Given the description of an element on the screen output the (x, y) to click on. 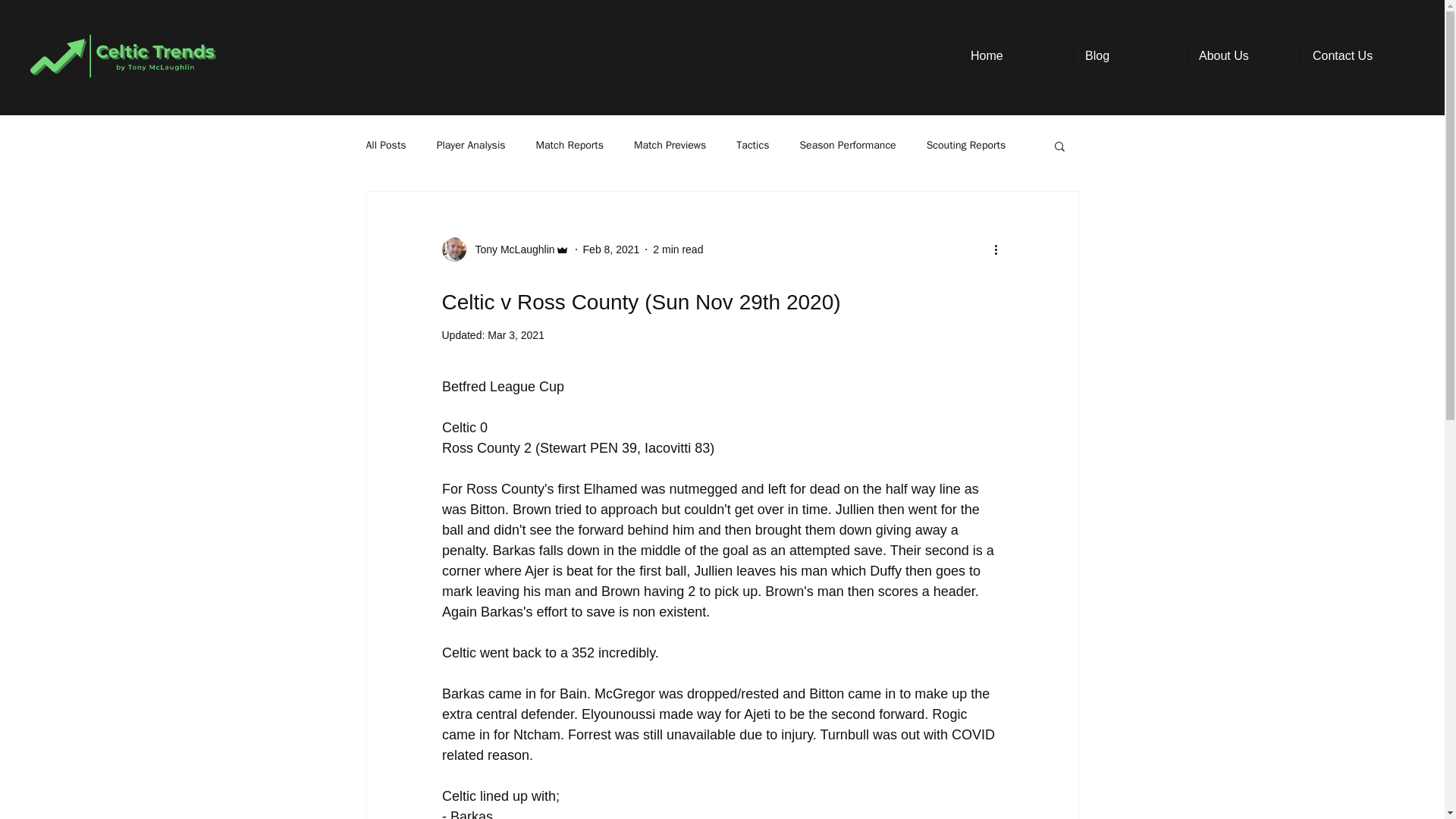
Mar 3, 2021 (515, 335)
Home (1016, 55)
About Us (1244, 55)
Tony McLaughlin (505, 249)
Feb 8, 2021 (611, 248)
Contact Us (1357, 55)
Tony McLaughlin (509, 248)
Player Analysis (470, 145)
Tactics (752, 145)
Match Reports (569, 145)
2 min read (677, 248)
Homepage (122, 55)
Scouting Reports (966, 145)
All Posts (385, 145)
Season Performance (847, 145)
